Given the description of an element on the screen output the (x, y) to click on. 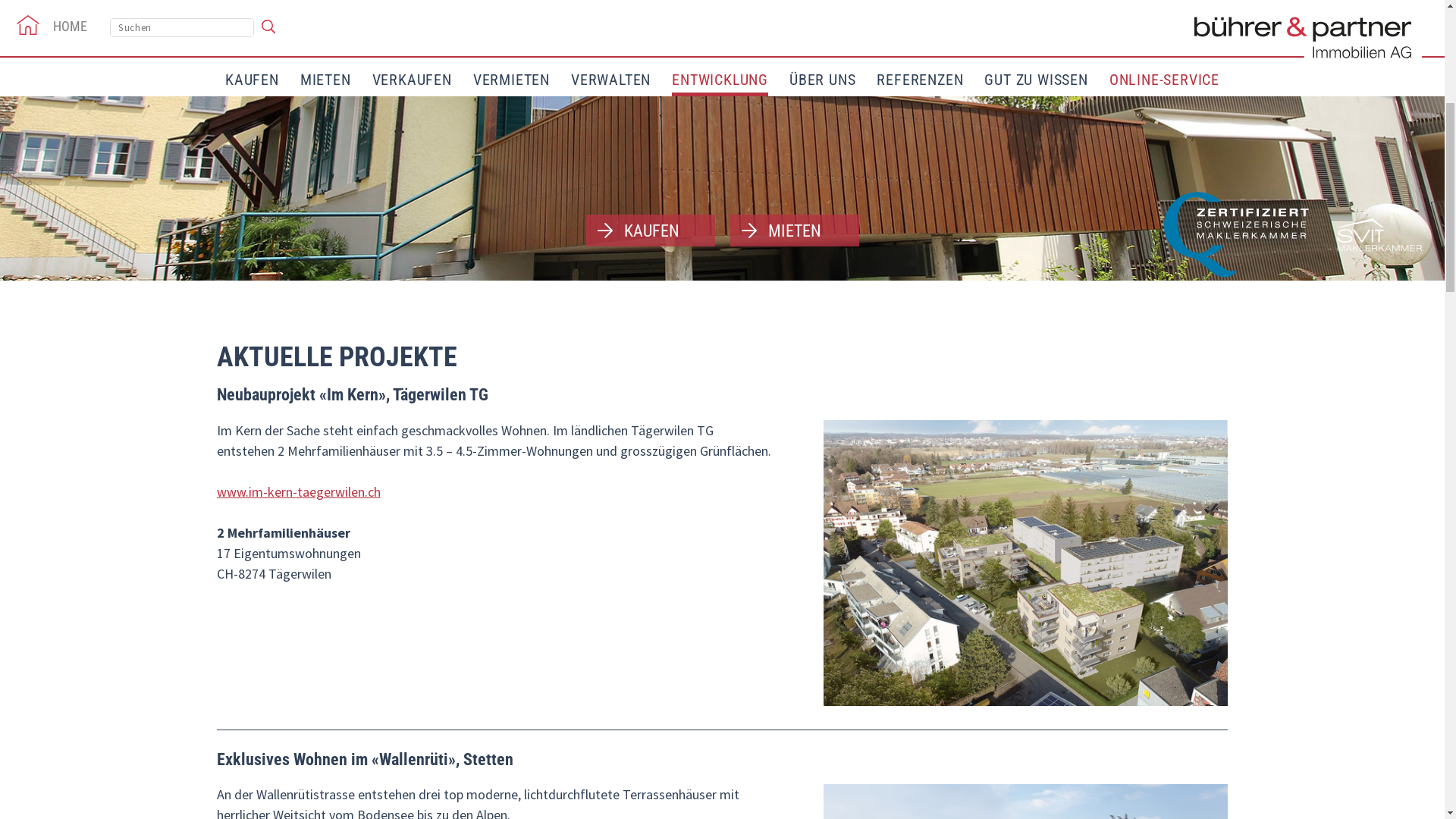
KAUFEN Element type: text (252, 480)
VERMIETEN Element type: text (511, 480)
ONLINE-SERVICE Element type: text (1164, 480)
KAUFEN Element type: text (649, 630)
HOME Element type: text (51, 428)
GUT ZU WISSEN Element type: text (1035, 480)
VERWALTEN Element type: text (610, 480)
ENTWICKLUNG Element type: text (719, 482)
VERKAUFEN Element type: text (411, 480)
MIETEN Element type: text (793, 630)
REFERENZEN Element type: text (919, 480)
MIETEN Element type: text (325, 480)
